Given the description of an element on the screen output the (x, y) to click on. 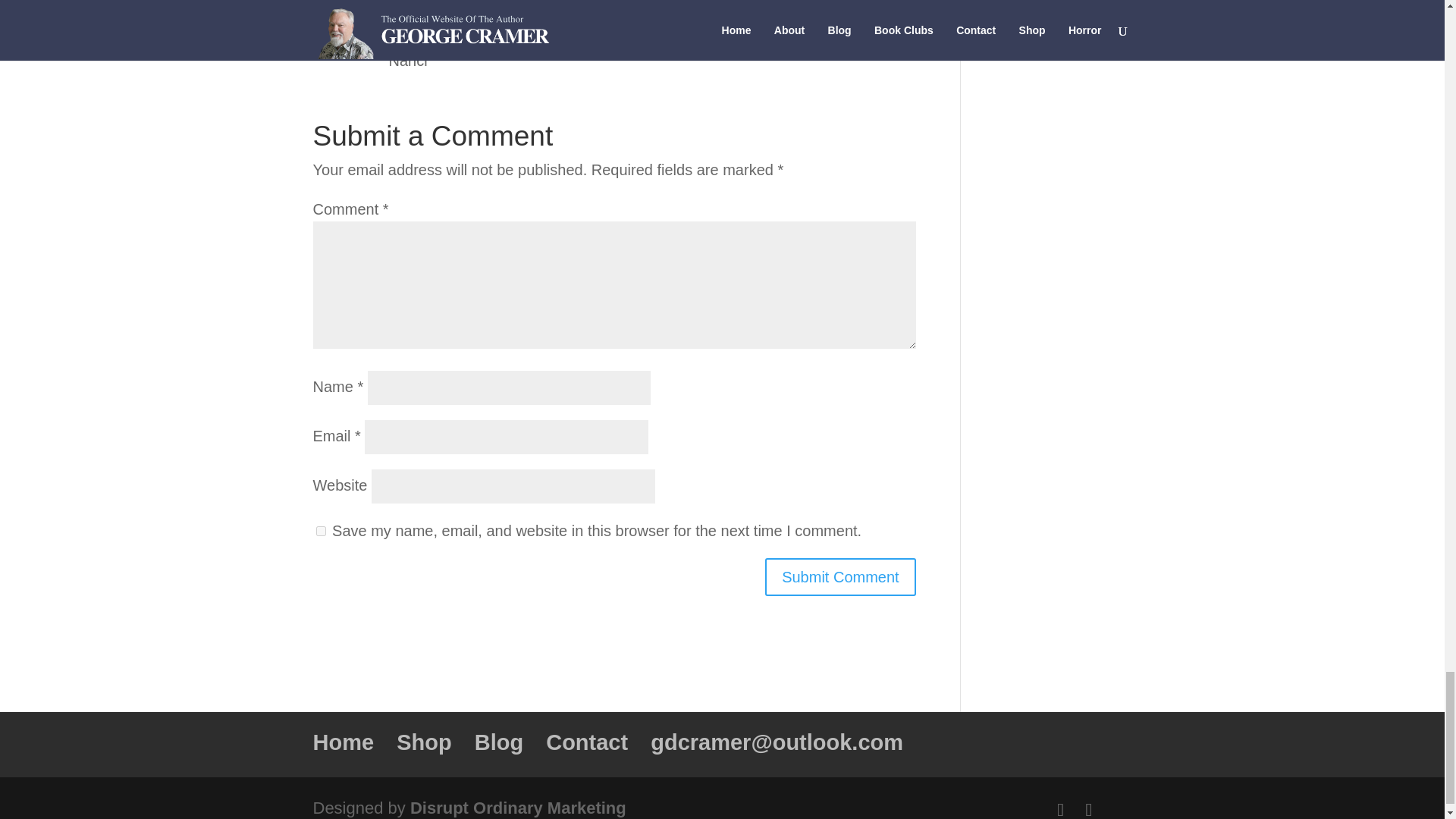
Submit Comment (840, 576)
yes (319, 531)
Submit Comment (840, 576)
